Given the description of an element on the screen output the (x, y) to click on. 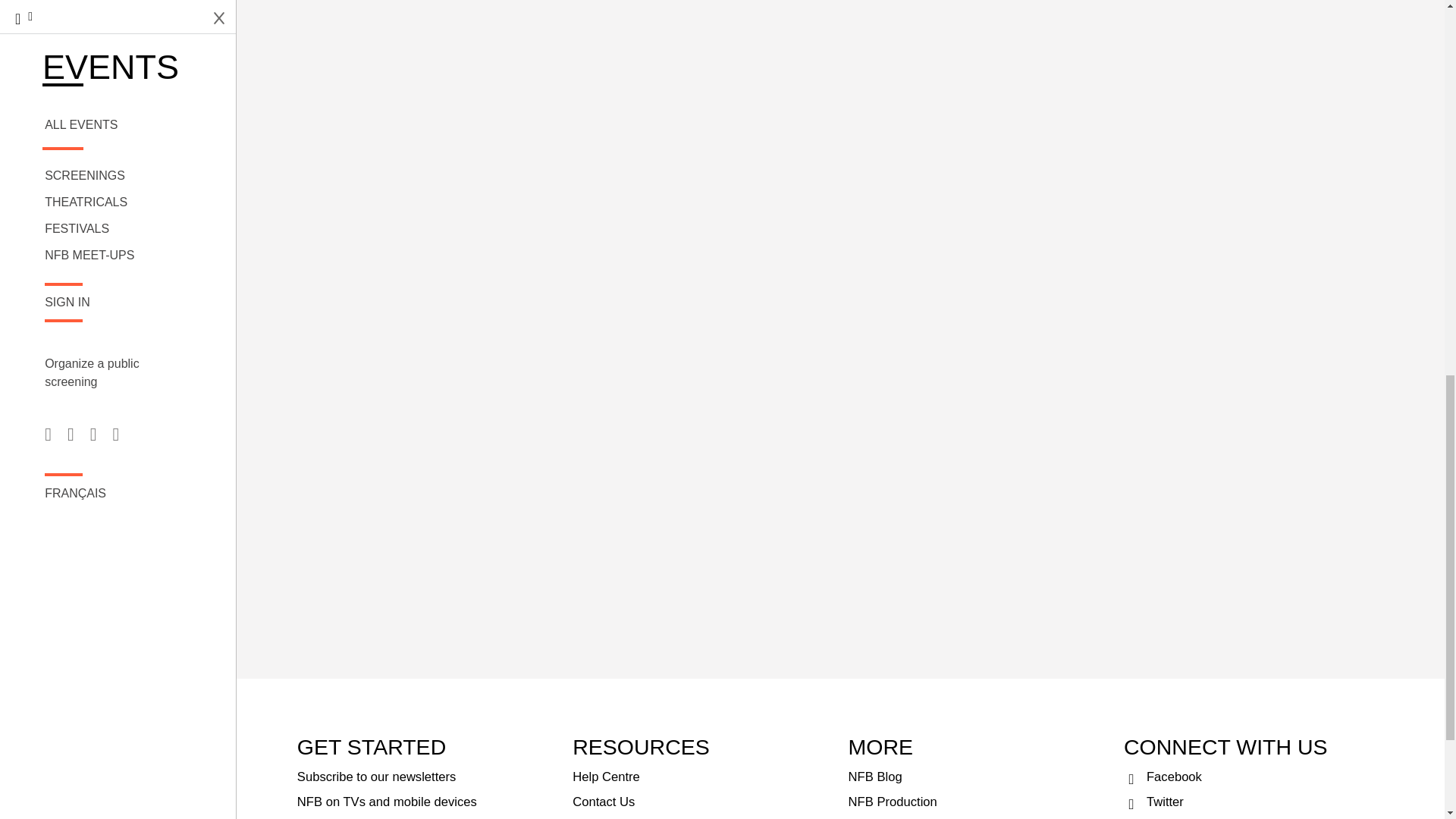
NFB on TVs and mobile devices (427, 801)
Subscribe to our newsletters (427, 776)
NFB Blog (978, 776)
Twitter (1254, 801)
Help Centre (702, 776)
Contact Us (702, 801)
Facebook (1254, 776)
NFB Production (978, 801)
NFB Distribution (978, 816)
Create with the NFB (702, 816)
